Given the description of an element on the screen output the (x, y) to click on. 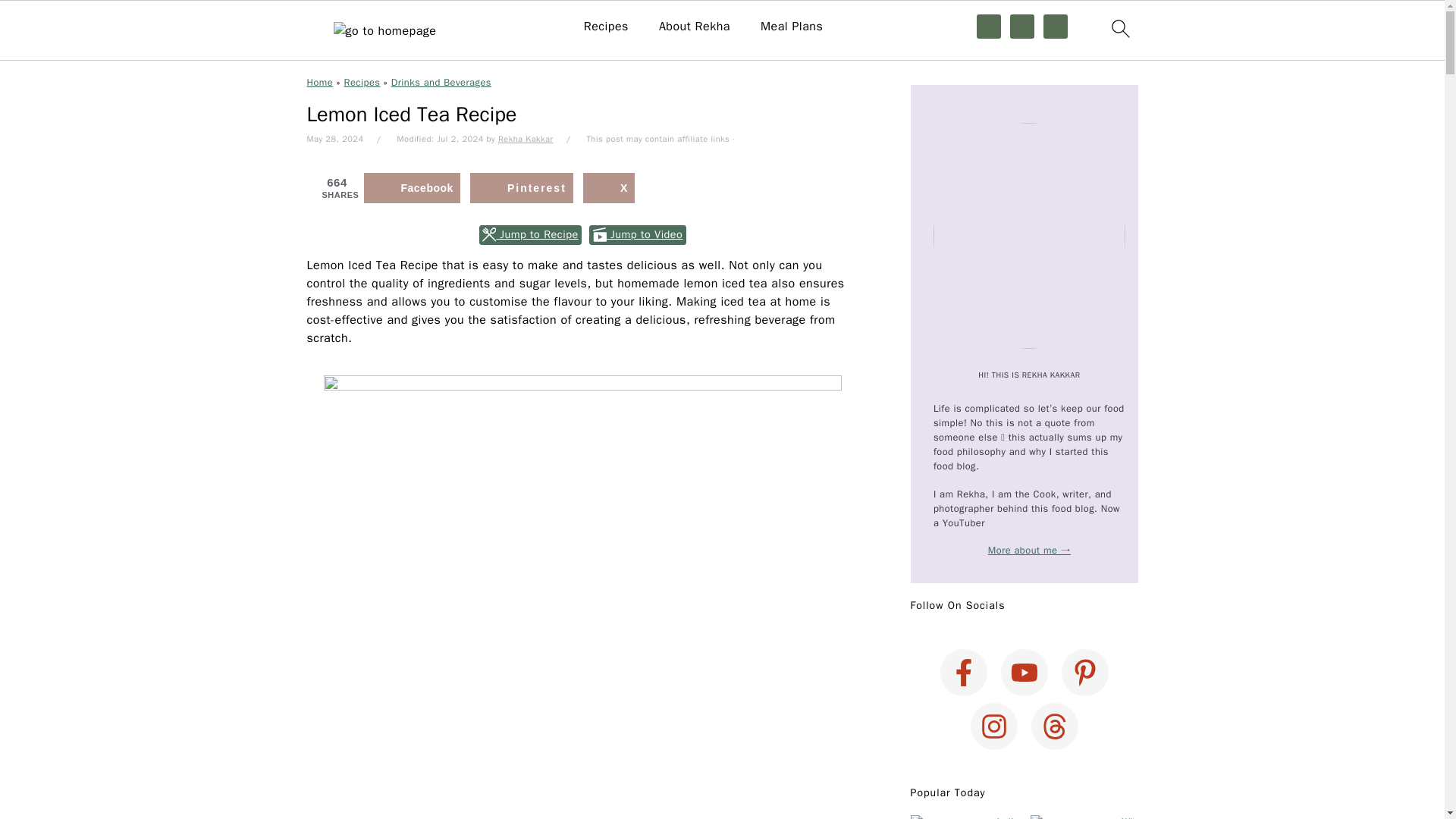
Share on Facebook (412, 187)
Save to Pinterest (521, 187)
Share on X (608, 187)
Recipes (605, 26)
search icon (1119, 27)
